Given the description of an element on the screen output the (x, y) to click on. 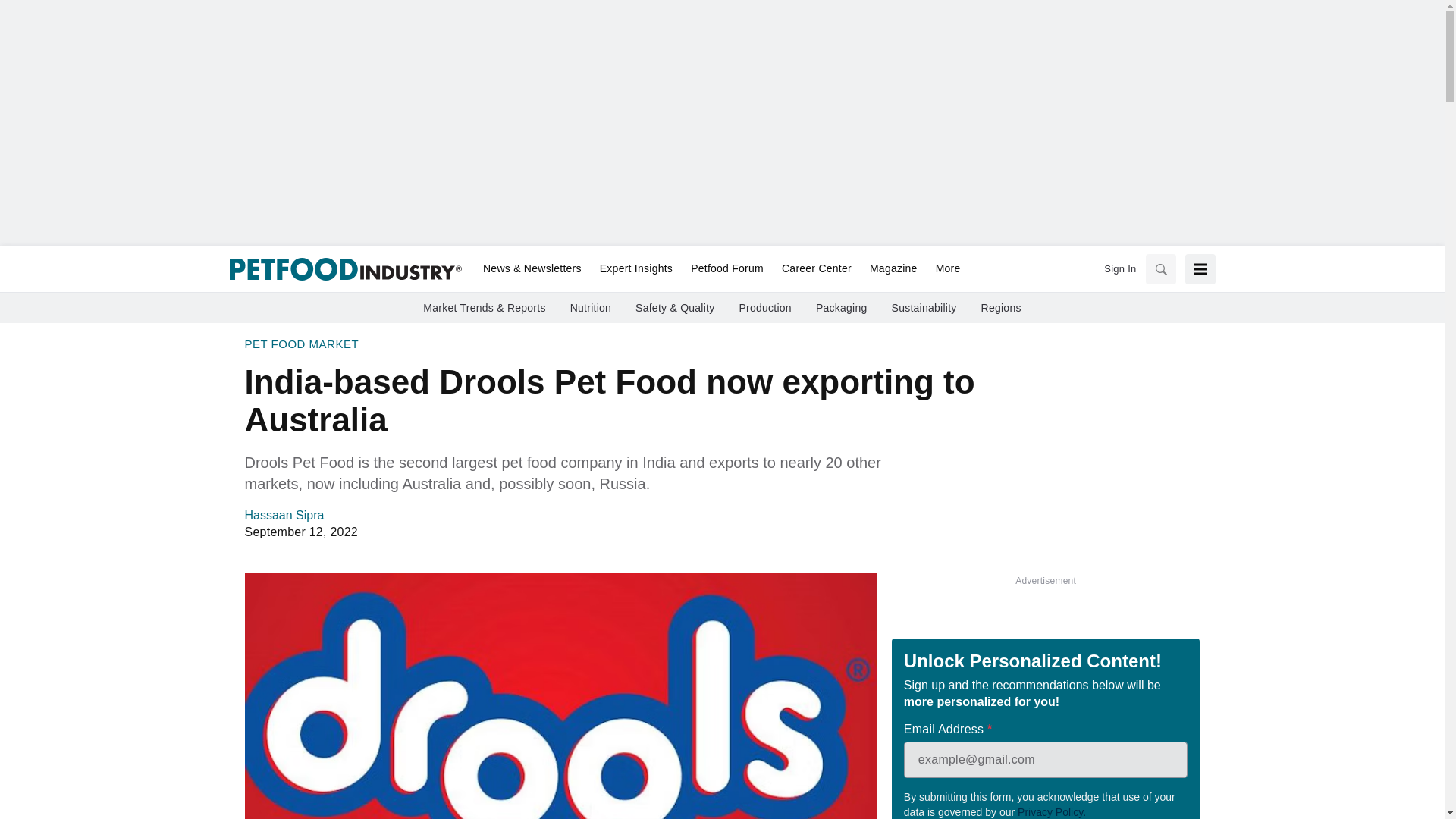
More (943, 269)
Sustainability (923, 307)
Nutrition (590, 307)
Regions (1001, 307)
Packaging (841, 307)
Pet Food Market (301, 343)
Career Center (816, 269)
Sign In (1119, 268)
Expert Insights (636, 269)
Magazine (893, 269)
